Given the description of an element on the screen output the (x, y) to click on. 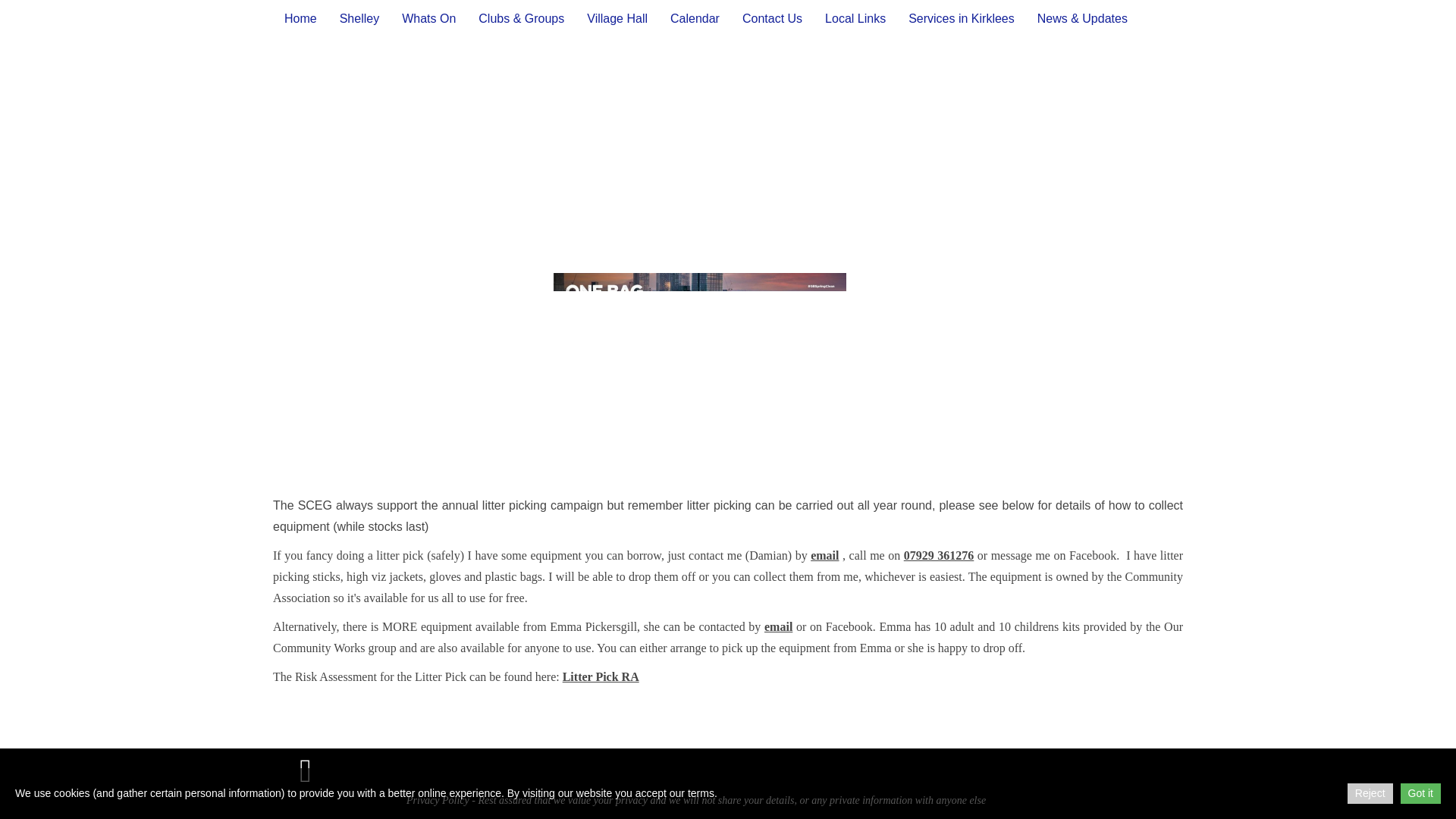
Shelley (359, 18)
Village Hall (617, 18)
Calendar (694, 18)
Home (300, 18)
Whats On (428, 18)
Shelley Community Association (313, 769)
Contact Us (772, 18)
Services in Kirklees (961, 18)
Local Links (854, 18)
